Given the description of an element on the screen output the (x, y) to click on. 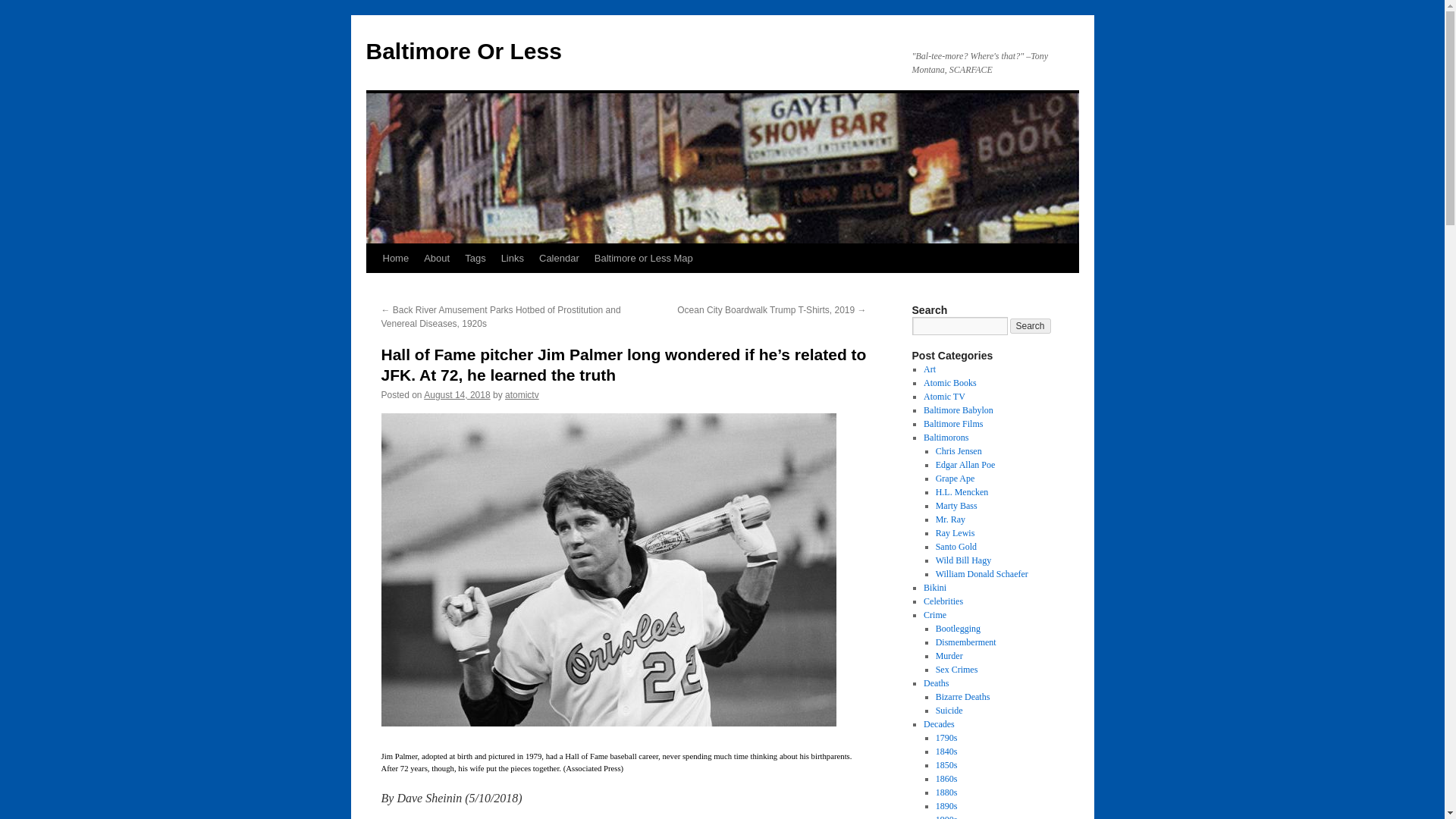
About (436, 258)
Art (929, 368)
Tags (475, 258)
Baltimorons (945, 437)
Links (512, 258)
Links (512, 258)
Grape Ape (955, 478)
Search (1030, 325)
Baltimore Films (952, 423)
August 14, 2018 (456, 394)
